Given the description of an element on the screen output the (x, y) to click on. 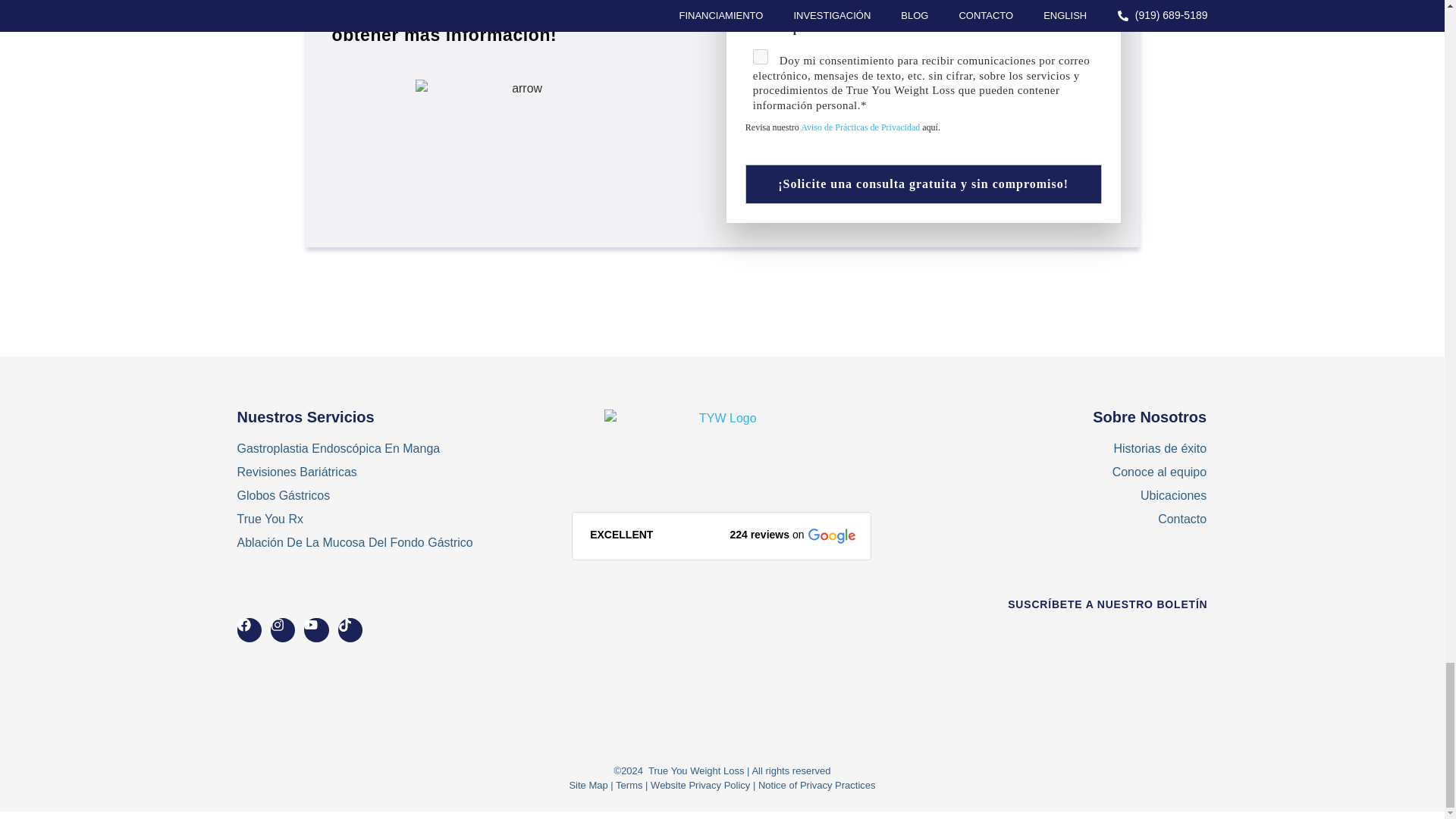
Form 0 (1115, 674)
true (760, 56)
Spanish (760, 23)
English (760, 6)
